Given the description of an element on the screen output the (x, y) to click on. 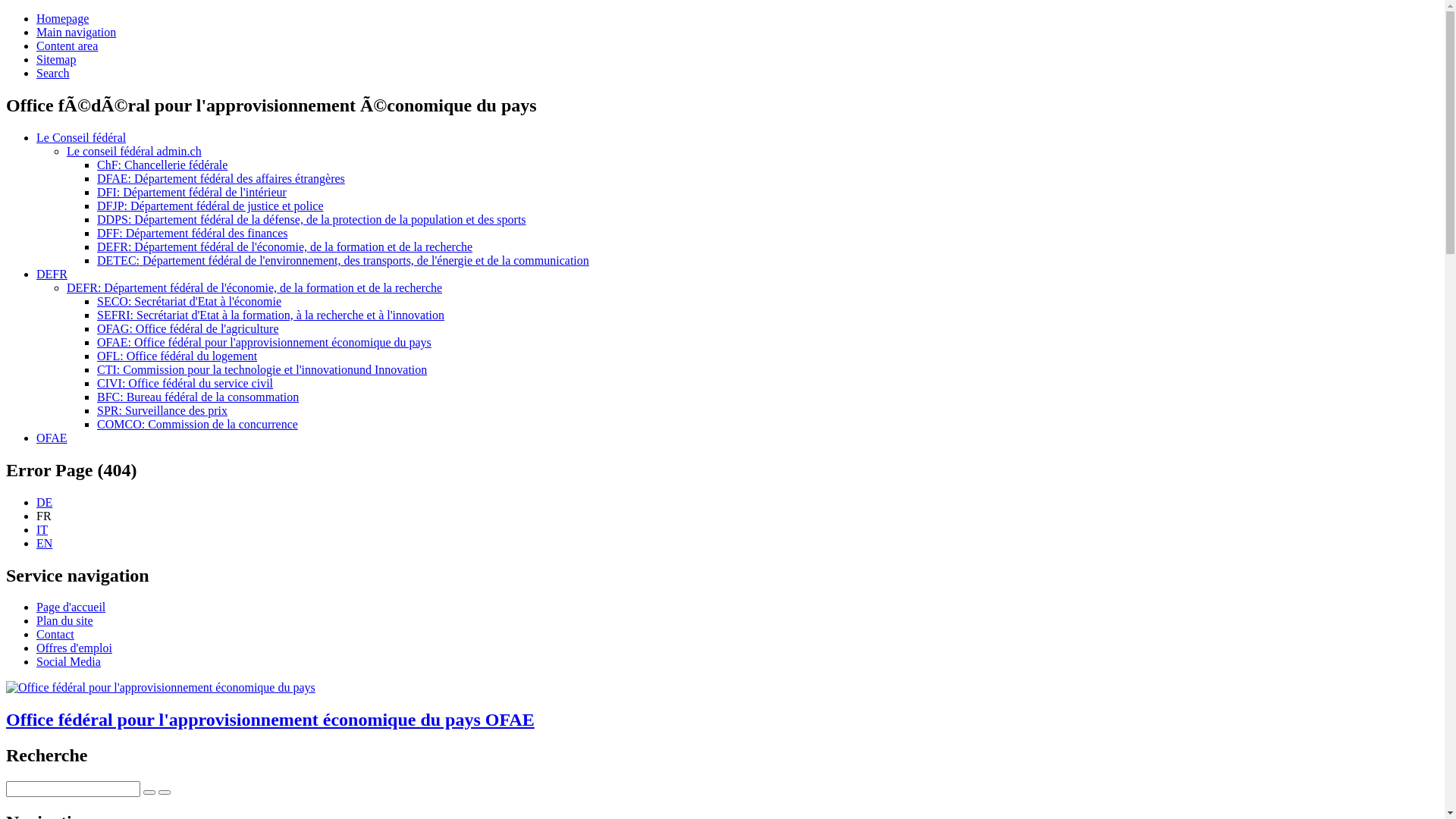
Offres d'emploi Element type: text (74, 647)
DEFR Element type: text (51, 273)
Page d'accueil Element type: text (70, 606)
Homepage Element type: text (62, 18)
Social Media Element type: text (68, 661)
Content area Element type: text (66, 45)
Sitemap Element type: text (55, 59)
OFAE Element type: text (51, 437)
IT Element type: text (41, 529)
Contact Element type: text (55, 633)
Main navigation Element type: text (76, 31)
FR Element type: text (43, 515)
Search Element type: text (52, 72)
DE Element type: text (44, 501)
COMCO: Commission de la concurrence Element type: text (197, 423)
SPR: Surveillance des prix Element type: text (162, 410)
Plan du site Element type: text (64, 620)
EN Element type: text (44, 542)
